Given the description of an element on the screen output the (x, y) to click on. 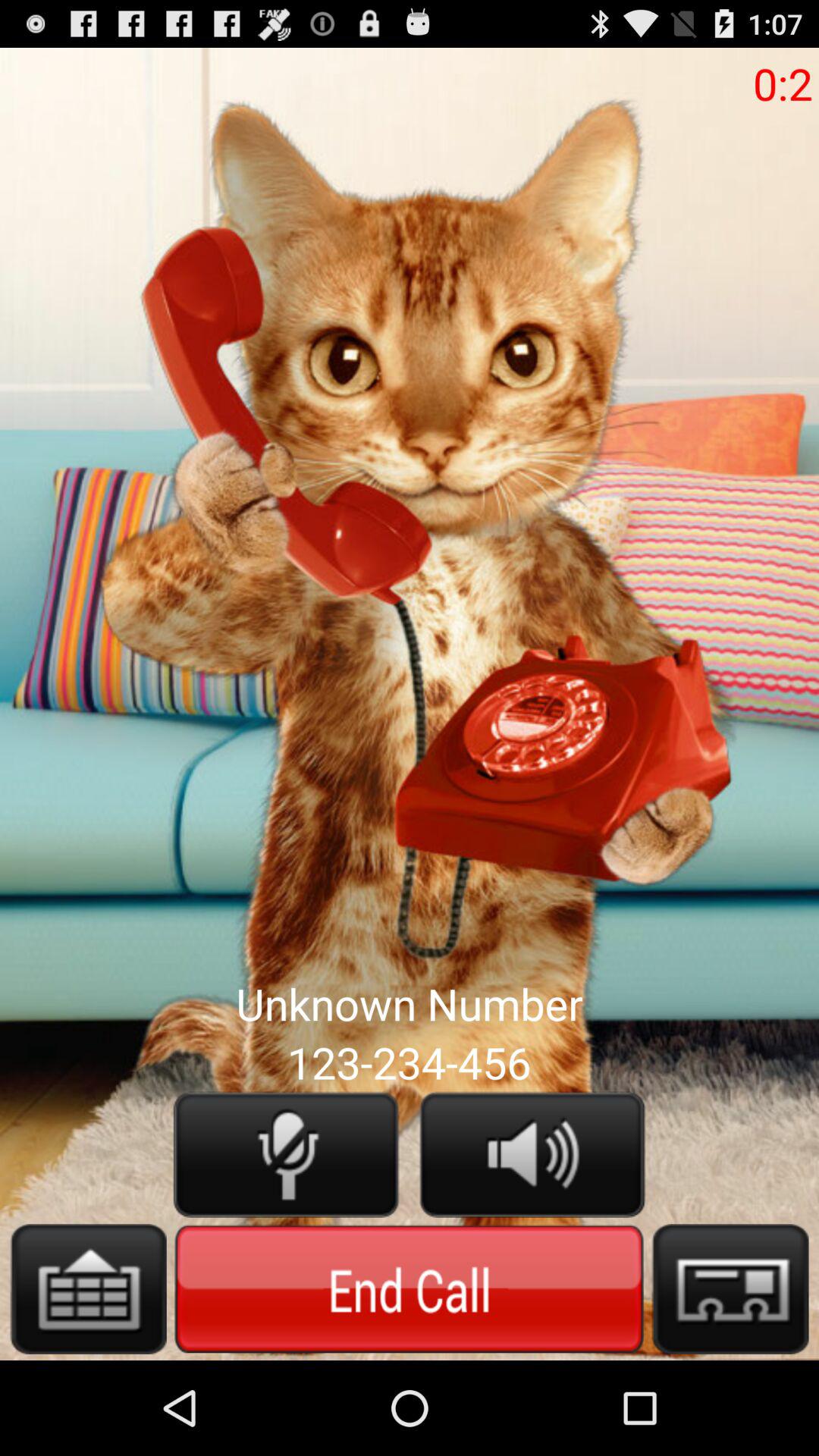
keyboard option (88, 1288)
